Given the description of an element on the screen output the (x, y) to click on. 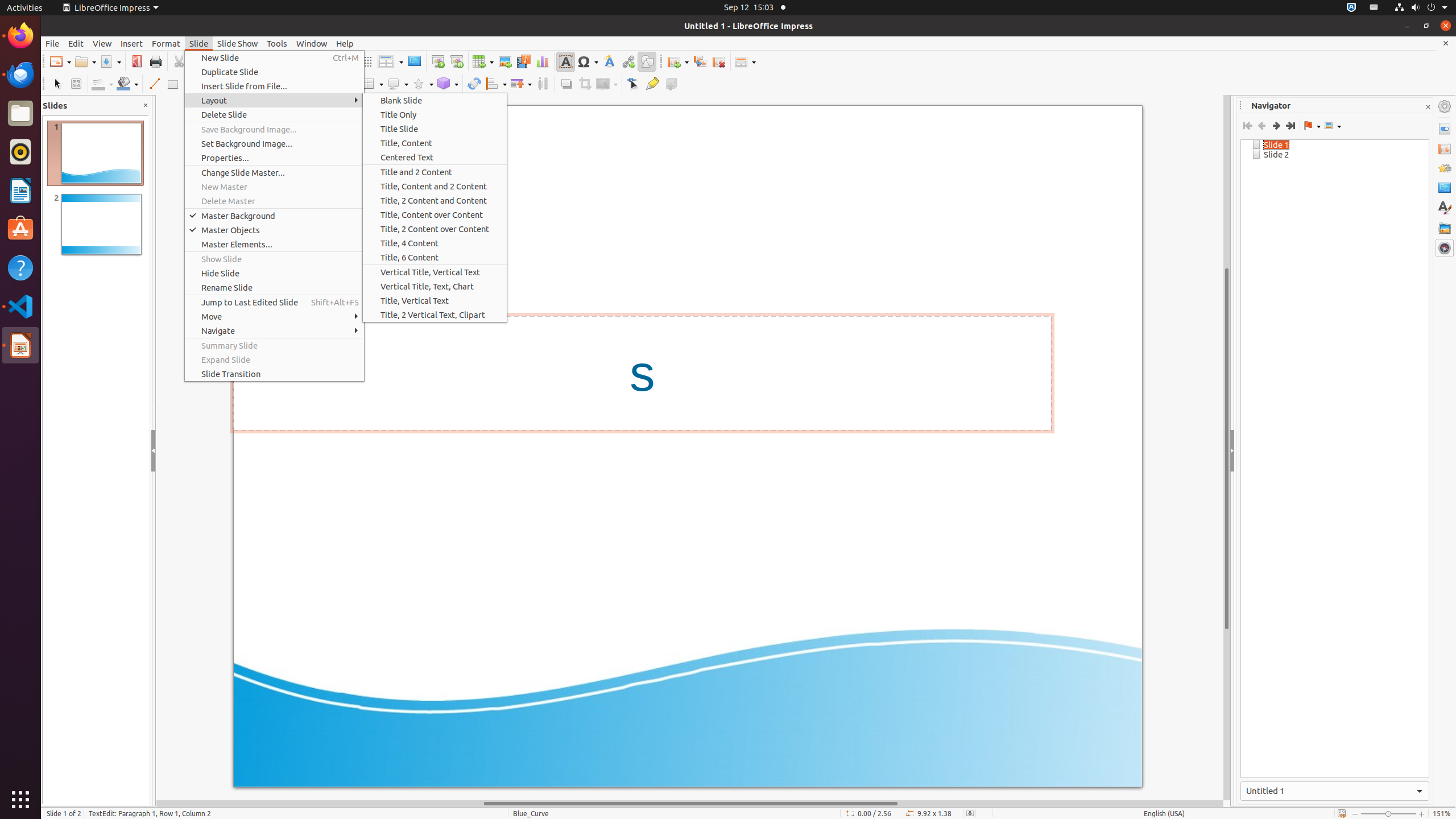
Title, Content over Content Element type: menu-item (434, 214)
Vertical Title, Text, Chart Element type: menu-item (434, 286)
Active Window Element type: combo-box (1334, 790)
Slide Transition Element type: menu-item (274, 373)
File Element type: menu (51, 43)
